Given the description of an element on the screen output the (x, y) to click on. 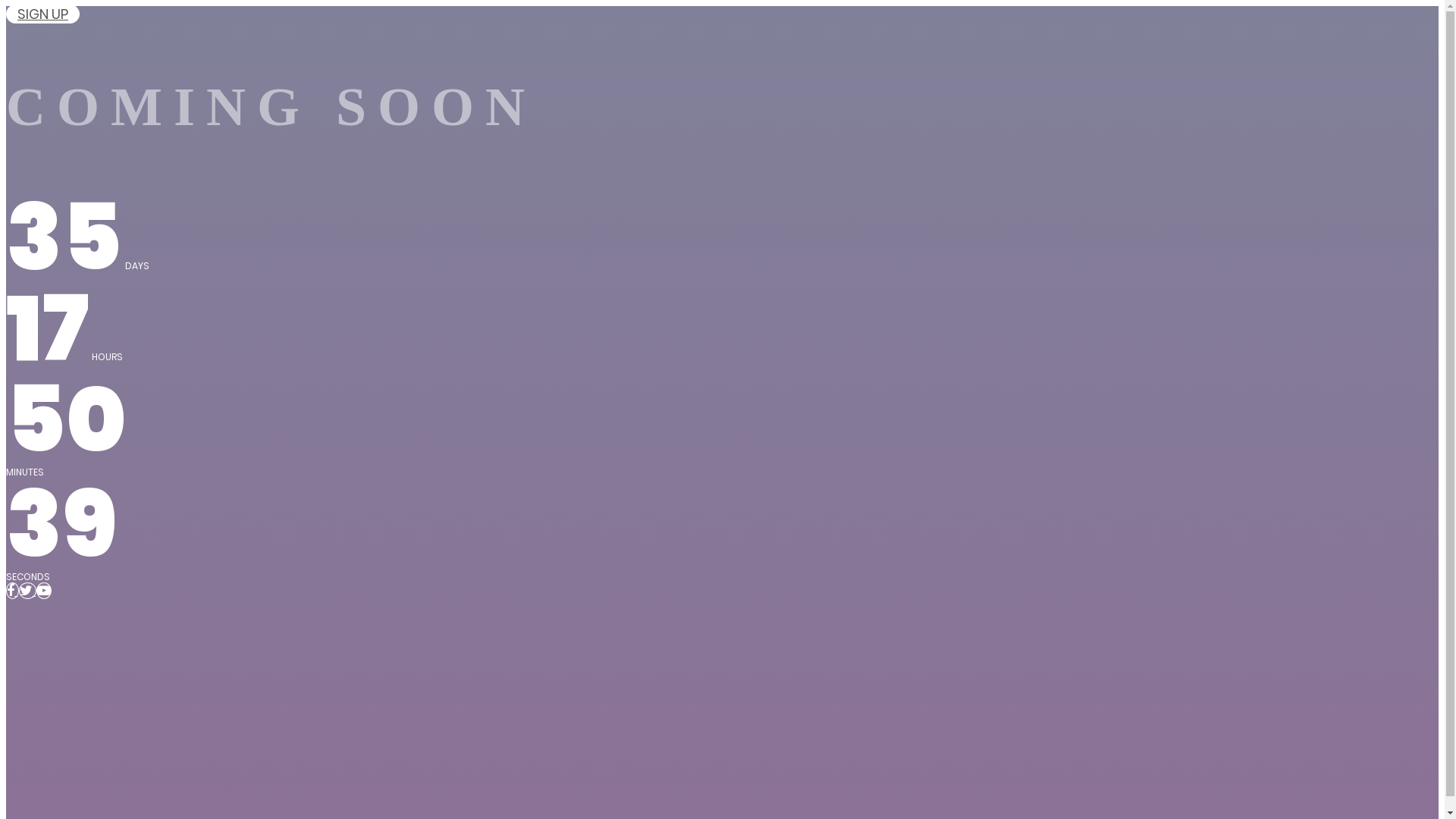
SIGN UP Element type: text (42, 13)
